Given the description of an element on the screen output the (x, y) to click on. 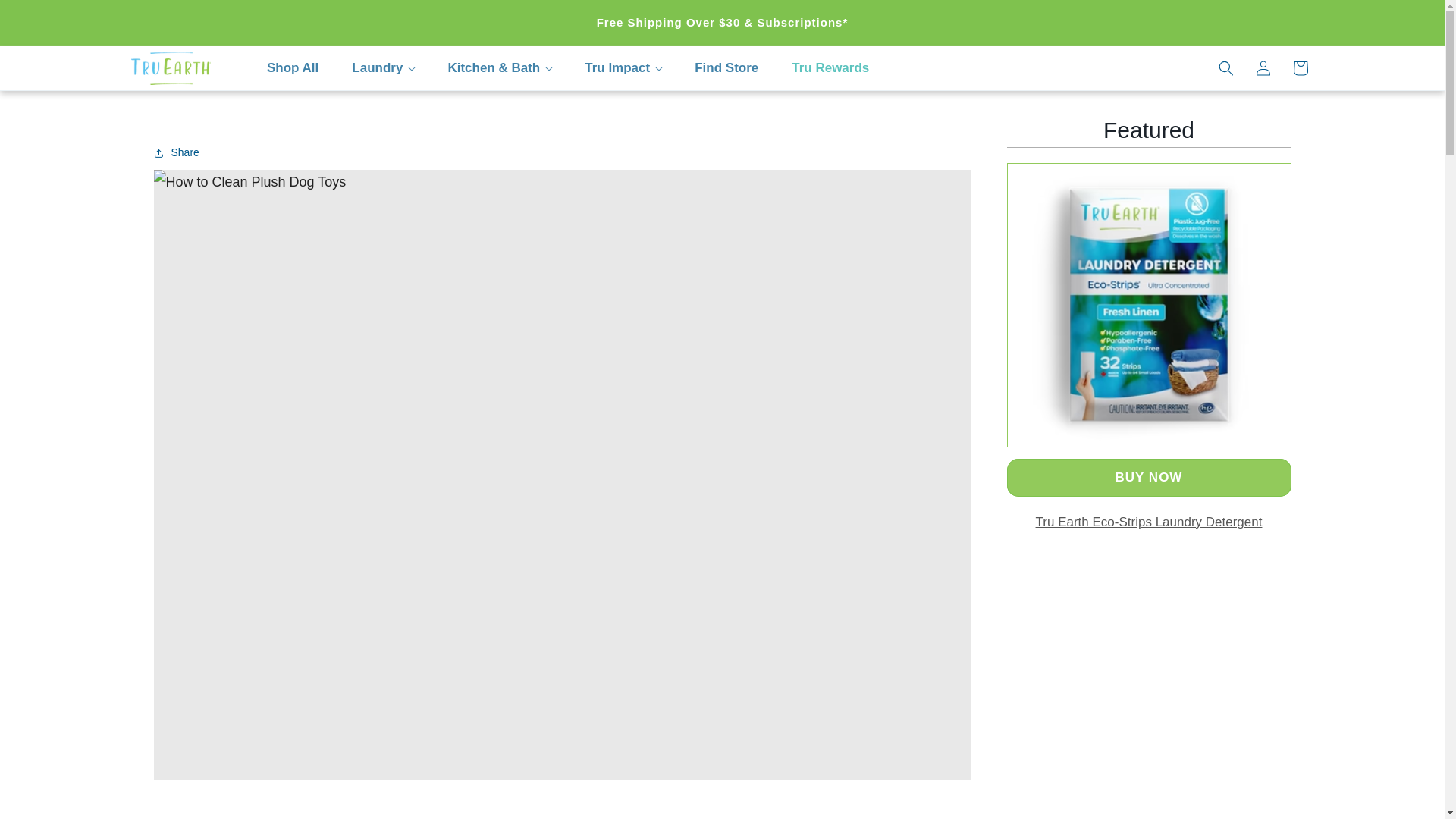
SKIP TO CONTENT (45, 18)
